Given the description of an element on the screen output the (x, y) to click on. 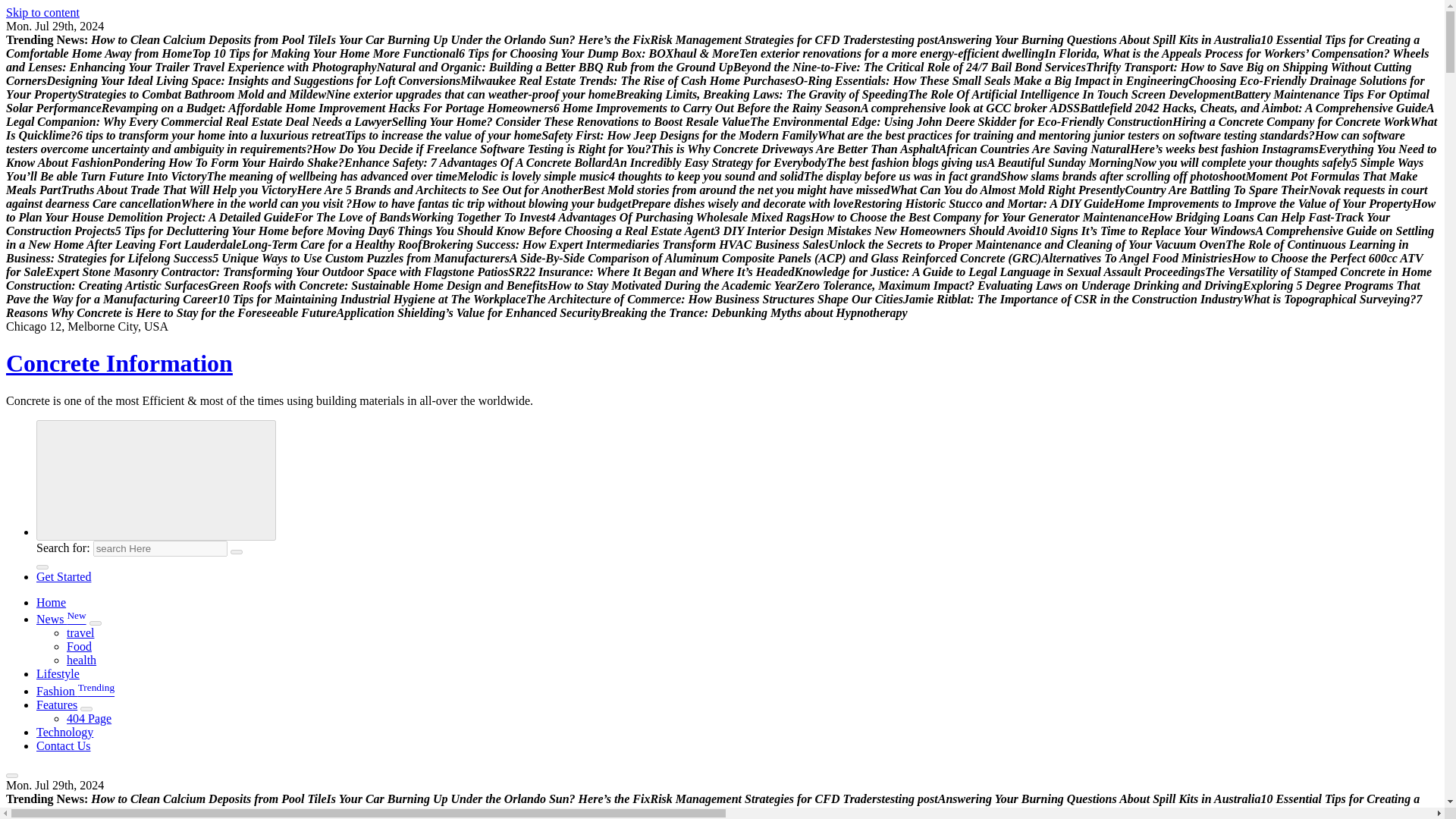
Lifestyle (58, 673)
Lifestyle (58, 673)
Contact Us (63, 745)
Home (50, 602)
travel (80, 632)
Food (78, 645)
Food (78, 645)
Features (56, 704)
health (81, 659)
Home (50, 602)
Technology (64, 731)
Features (56, 704)
Skip to content (42, 11)
404 Page (89, 717)
health (81, 659)
